Given the description of an element on the screen output the (x, y) to click on. 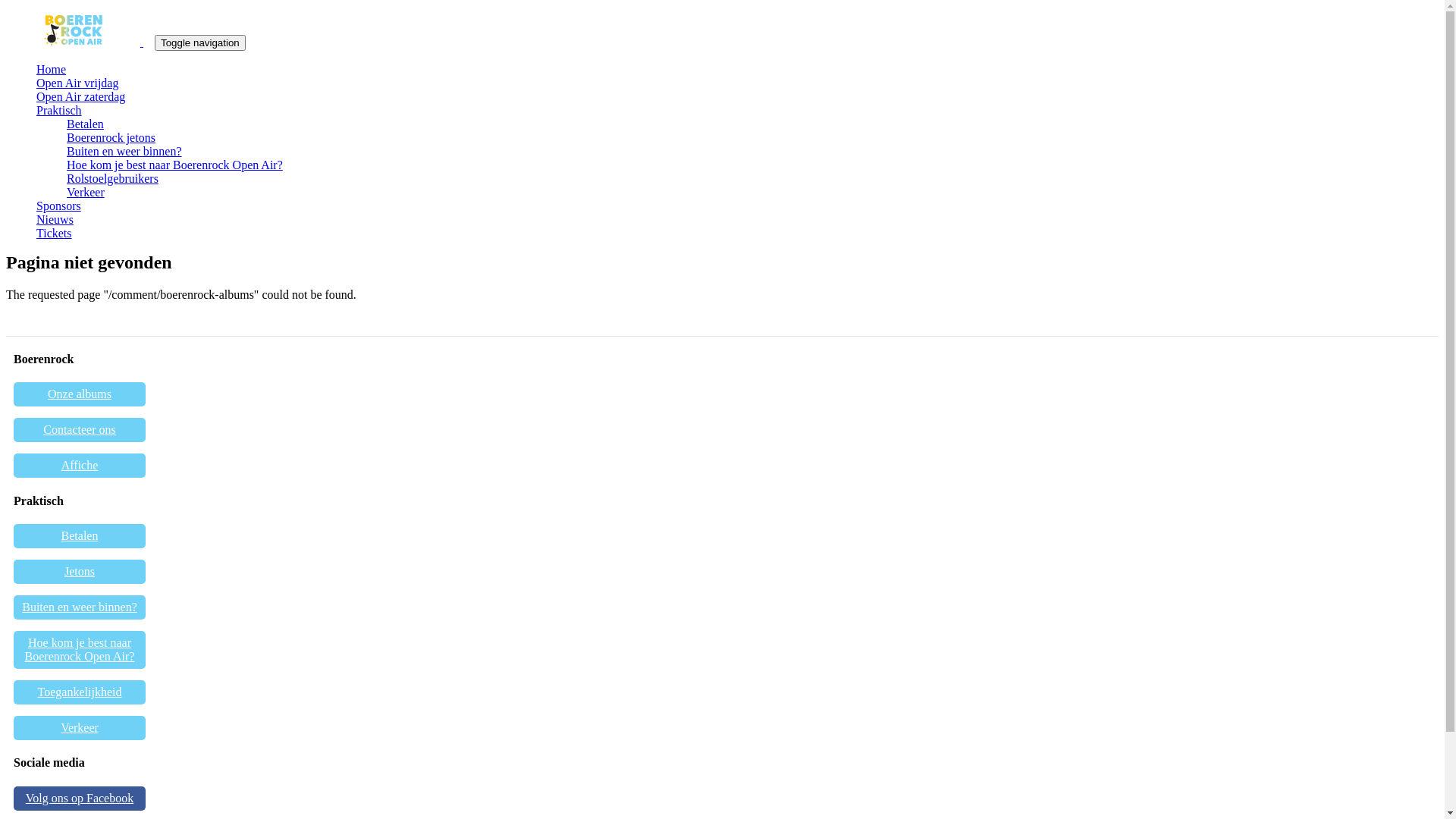
Home Element type: hover (80, 41)
Nieuws Element type: text (54, 219)
Open Air vrijdag Element type: text (77, 82)
Home Element type: text (50, 68)
Sponsors Element type: text (58, 205)
Onze albums Element type: text (79, 394)
Toegankelijkheid Element type: text (79, 692)
Rolstoelgebruikers Element type: text (112, 178)
Betalen Element type: text (79, 536)
Hoe kom je best naar Boerenrock Open Air? Element type: text (174, 164)
Verkeer Element type: text (85, 191)
Tickets Element type: text (54, 232)
Praktisch Element type: text (58, 109)
Overslaan en naar de algemene inhoud gaan Element type: text (6, 15)
Buiten en weer binnen? Element type: text (79, 607)
Hoe kom je best naar Boerenrock Open Air? Element type: text (79, 649)
Volg ons op Facebook Element type: text (79, 797)
Verkeer Element type: text (79, 727)
Toggle navigation Element type: text (199, 42)
Betalen Element type: text (84, 123)
Affiche Element type: text (79, 465)
Buiten en weer binnen? Element type: text (124, 150)
Open Air zaterdag Element type: text (80, 96)
Boerenrock jetons Element type: text (110, 137)
Contacteer ons Element type: text (79, 429)
Jetons Element type: text (79, 571)
